Given the description of an element on the screen output the (x, y) to click on. 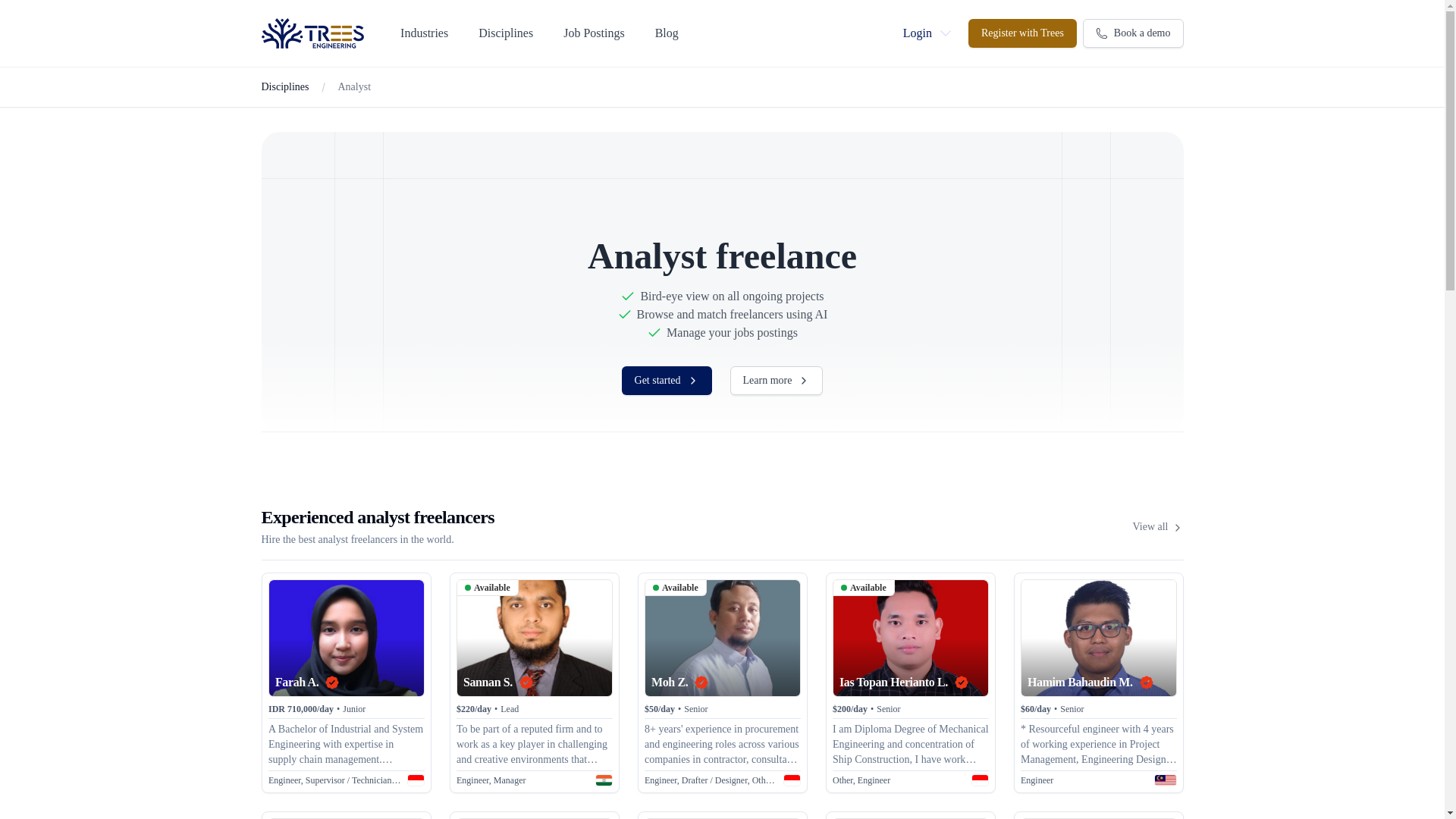
Register with Trees (1022, 32)
Job Postings (593, 32)
Disciplines (505, 32)
Book a demo (1133, 32)
Blog (666, 32)
Get started (666, 380)
Trees Engineering (312, 33)
Analyst (354, 86)
View all (1157, 525)
Learn more (777, 380)
Industries (424, 32)
Login (926, 33)
Disciplines (284, 87)
